Given the description of an element on the screen output the (x, y) to click on. 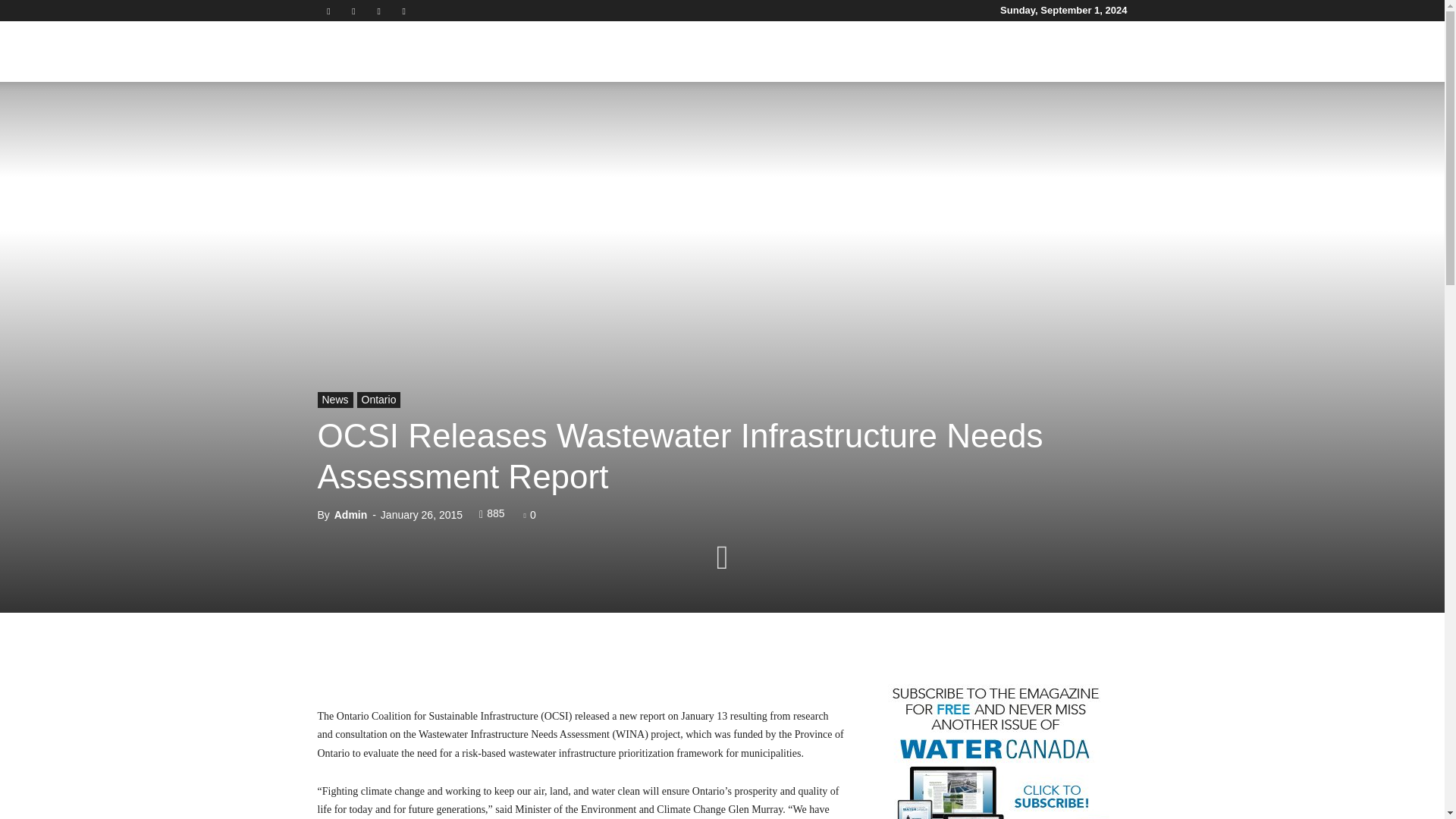
Search (1085, 124)
Youtube (403, 10)
Facebook (328, 10)
Twitter (379, 10)
Linkedin (353, 10)
